Given the description of an element on the screen output the (x, y) to click on. 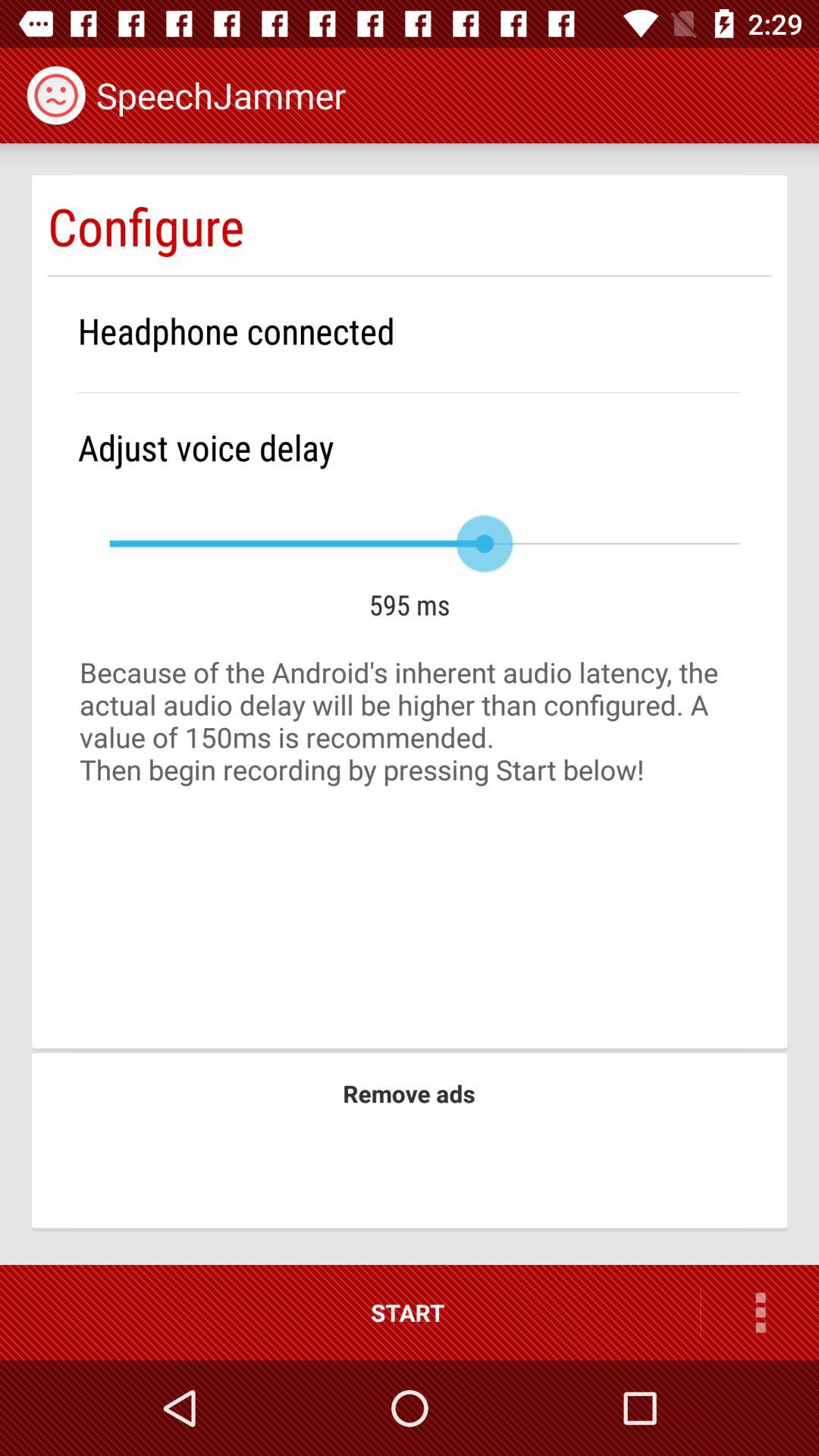
launch start item (349, 1312)
